Given the description of an element on the screen output the (x, y) to click on. 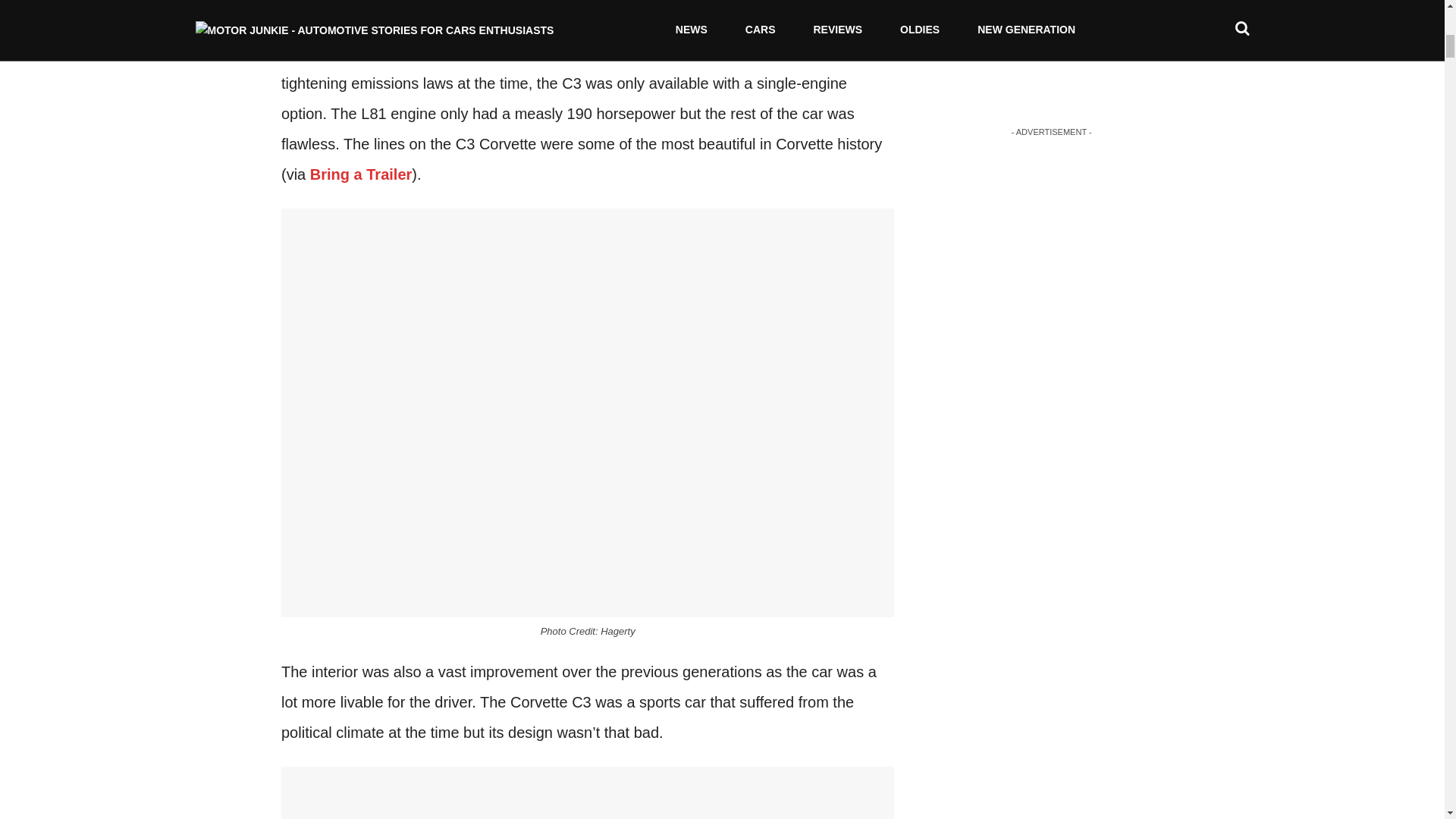
Bring a Trailer (361, 174)
